Given the description of an element on the screen output the (x, y) to click on. 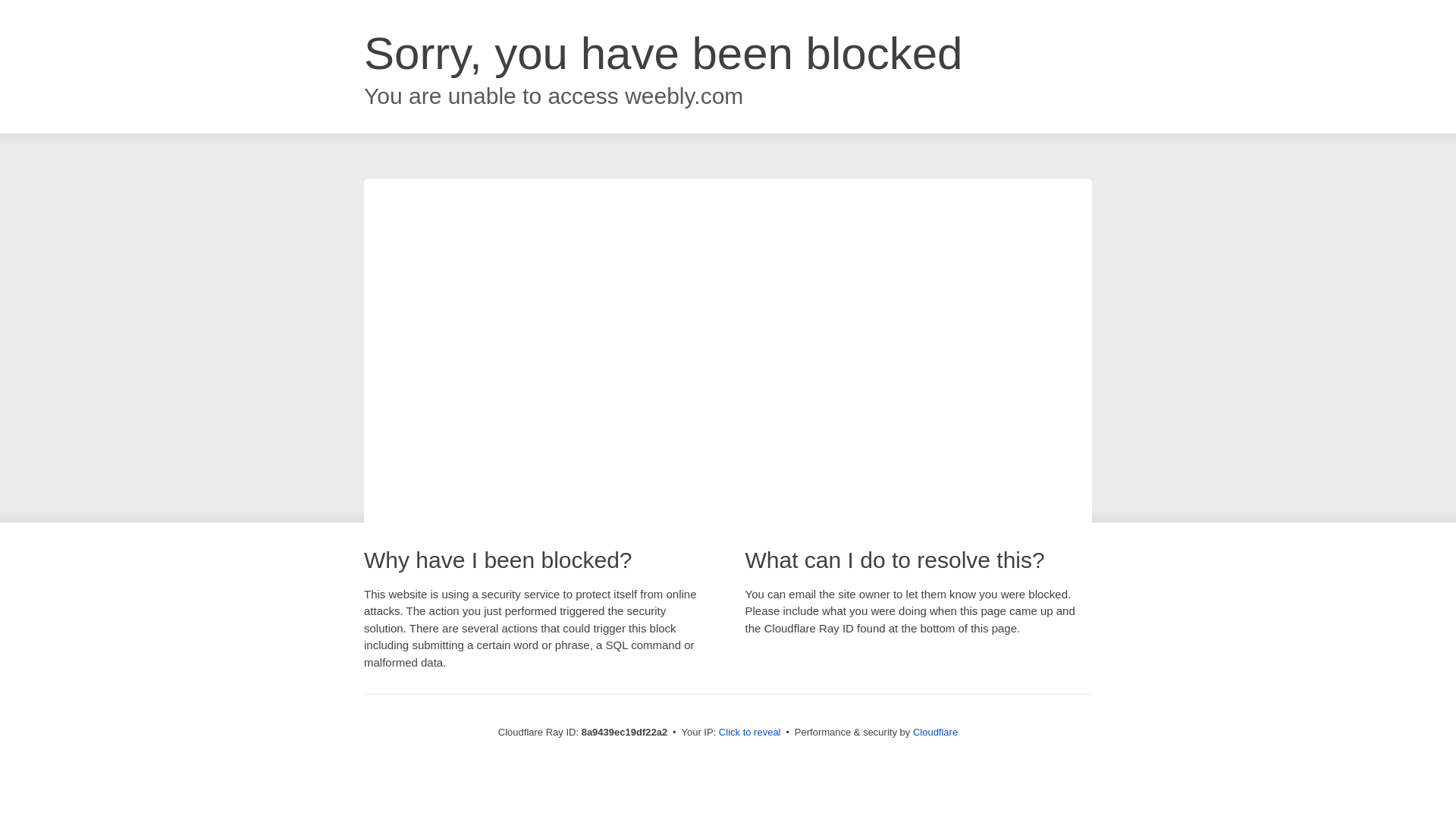
Click to reveal (749, 732)
Cloudflare (935, 731)
